Given the description of an element on the screen output the (x, y) to click on. 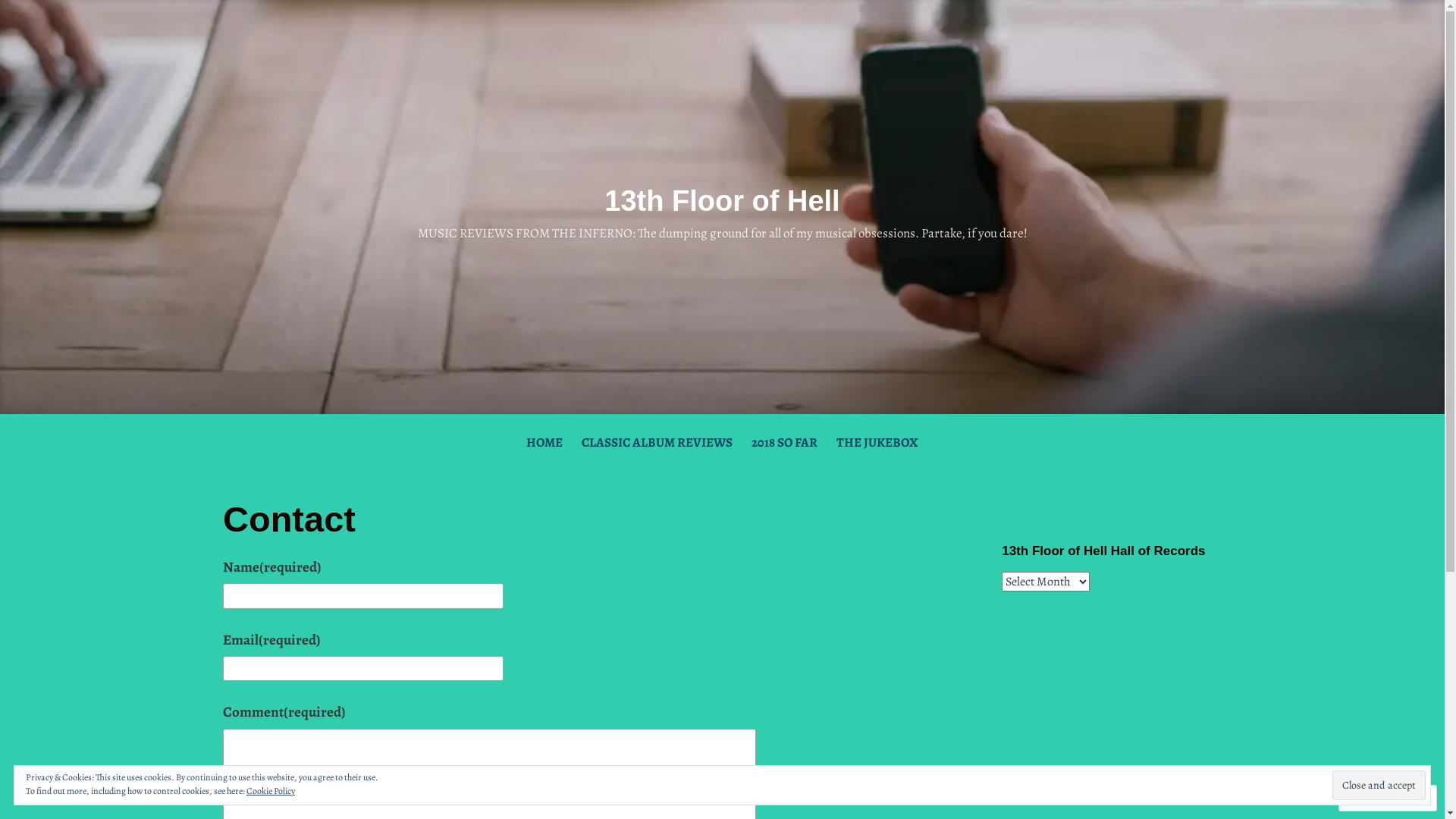
HOME Element type: text (543, 443)
CLASSIC ALBUM REVIEWS Element type: text (656, 443)
2018 SO FAR Element type: text (783, 443)
Follow Element type: text (1372, 797)
13th Floor of Hell Element type: text (721, 200)
THE JUKEBOX Element type: text (876, 443)
Cookie Policy Element type: text (270, 790)
Close and accept Element type: text (1378, 785)
